Given the description of an element on the screen output the (x, y) to click on. 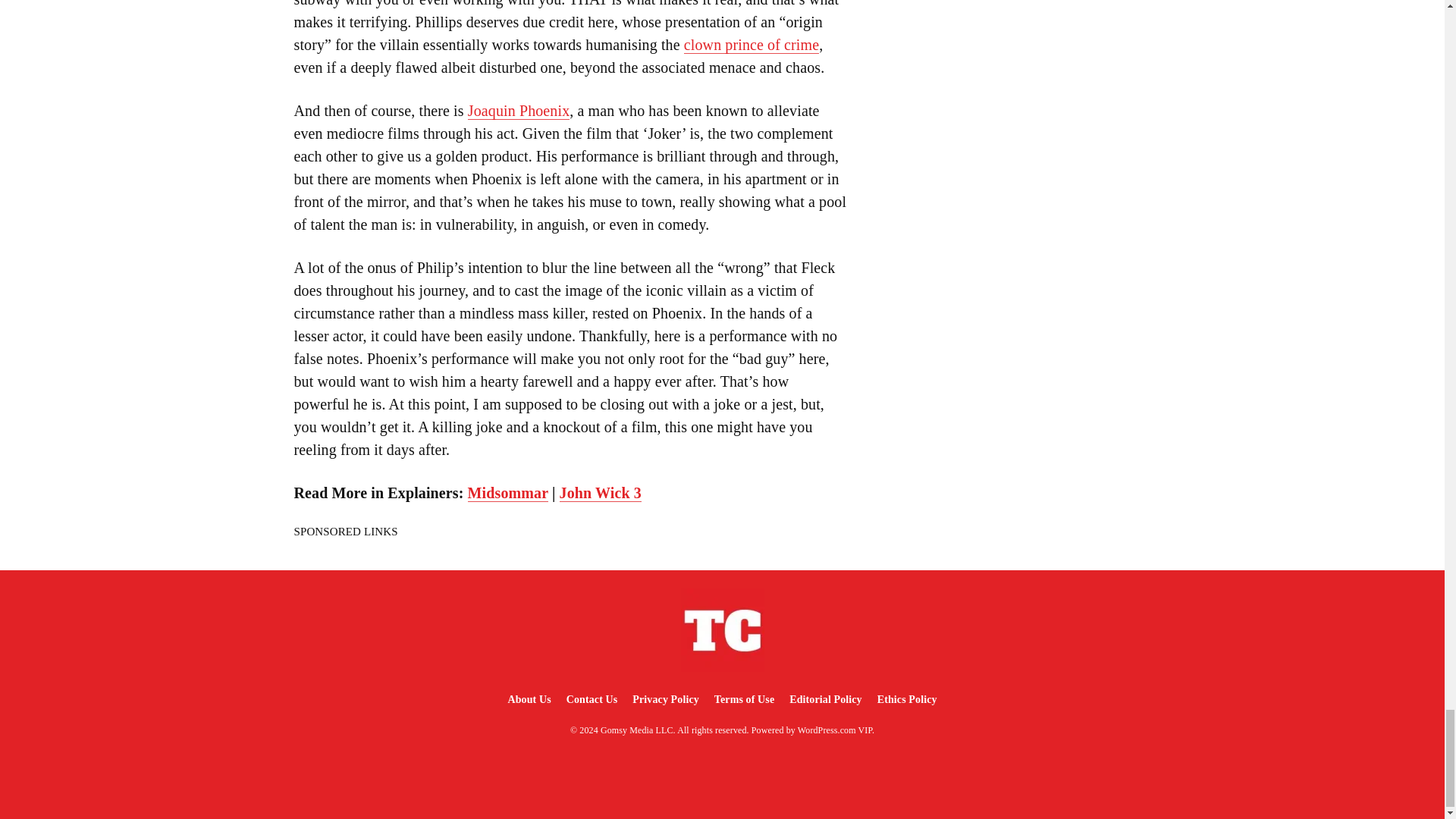
Contact Us (592, 699)
John Wick 3 (600, 493)
Ethics Policy (906, 699)
Privacy Policy (665, 699)
Editorial Policy (825, 699)
clown prince of crime (751, 45)
WordPress.com VIP (834, 729)
Terms of Use (743, 699)
Midsommar (507, 493)
Joaquin Phoenix (518, 110)
About Us (528, 699)
